Given the description of an element on the screen output the (x, y) to click on. 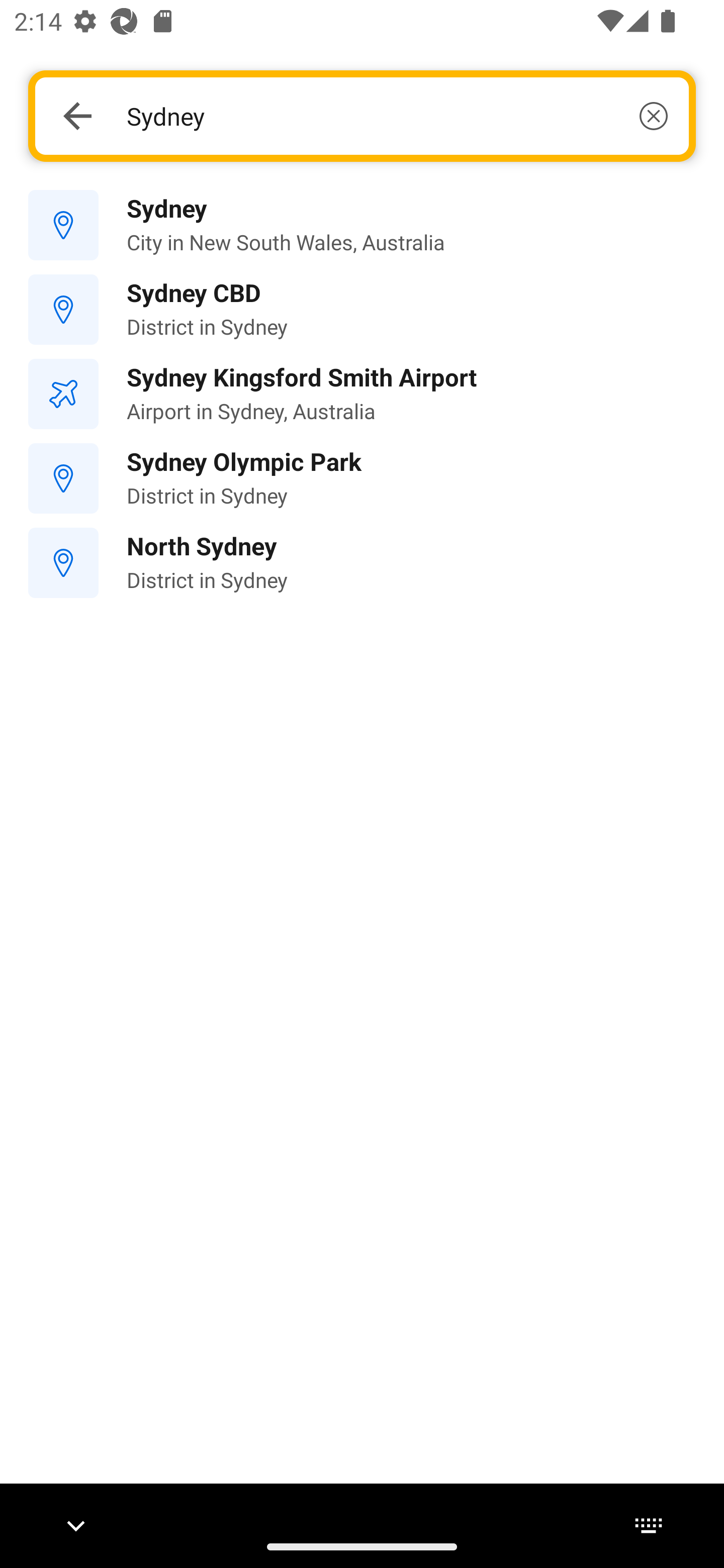
Sydney (396, 115)
Sydney City in New South Wales, Australia (362, 225)
Sydney CBD District in Sydney (362, 309)
Sydney Olympic Park District in Sydney (362, 477)
North Sydney District in Sydney (362, 562)
